Given the description of an element on the screen output the (x, y) to click on. 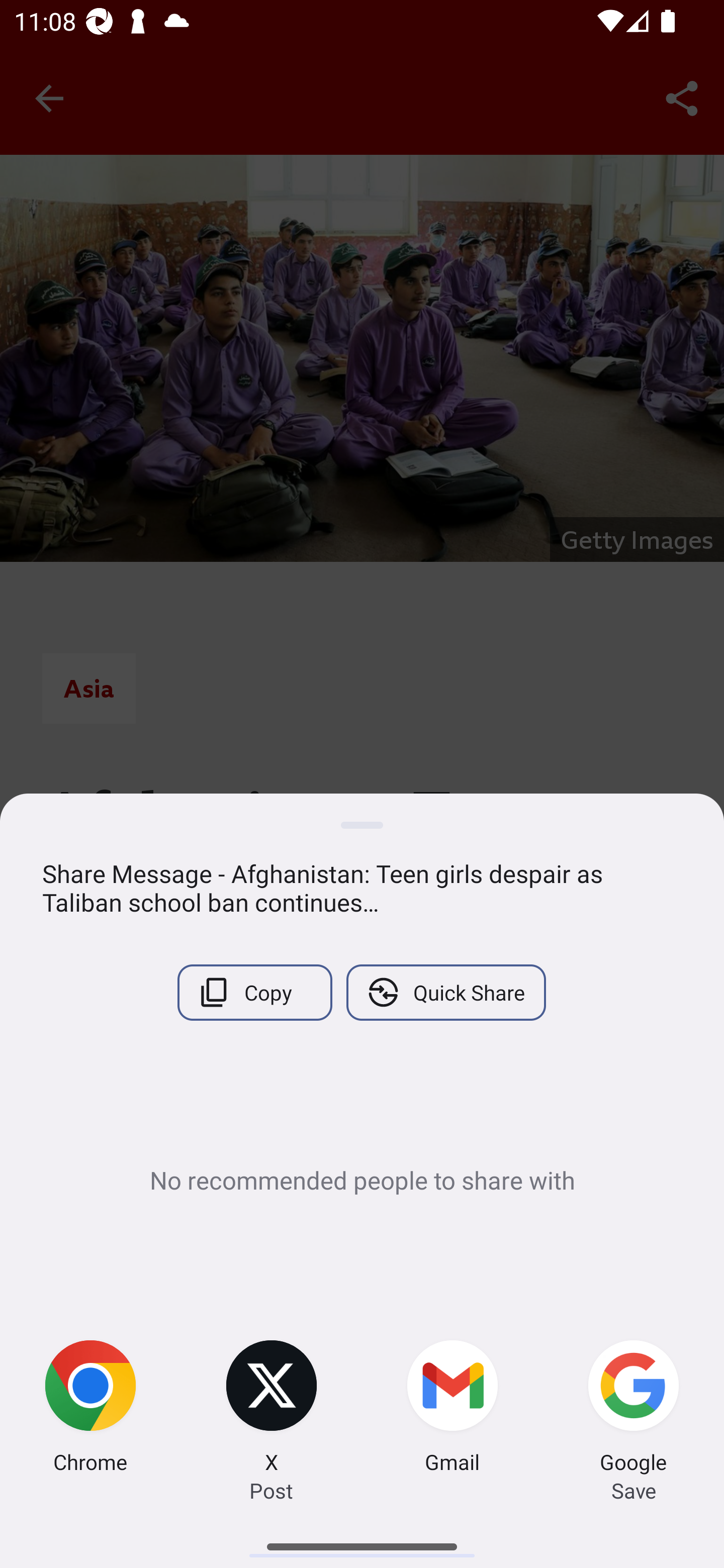
Copy (254, 992)
Quick Share (445, 992)
Chrome (90, 1409)
X Post (271, 1409)
Gmail (452, 1409)
Google Save (633, 1409)
